Given the description of an element on the screen output the (x, y) to click on. 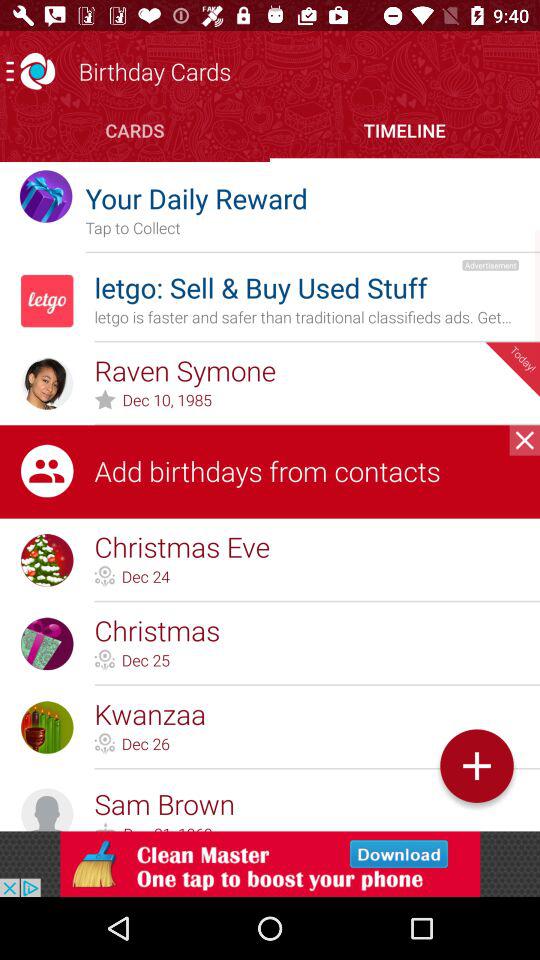
go to advertisement page (270, 864)
